Given the description of an element on the screen output the (x, y) to click on. 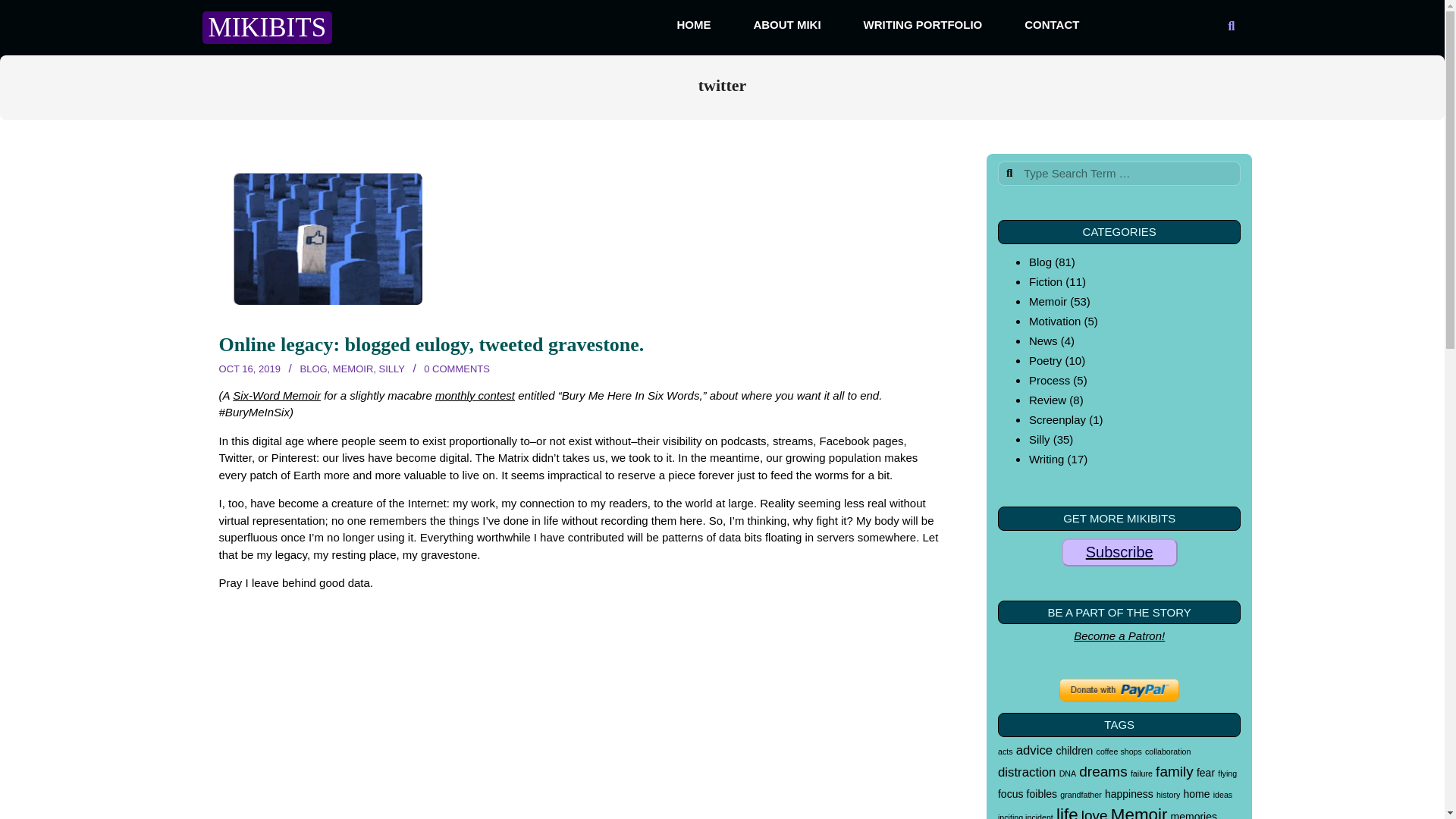
SILLY (391, 368)
Silly (1039, 439)
WRITING PORTFOLIO (922, 24)
Fiction (1045, 281)
Blog (1040, 261)
acts (1005, 750)
coffee shops (1118, 750)
CONTACT (1051, 24)
MIKIBITS (267, 27)
HOME (693, 24)
DNA (1068, 773)
children (1074, 750)
Motivation (1054, 320)
failure (1142, 773)
Review (1047, 399)
